Given the description of an element on the screen output the (x, y) to click on. 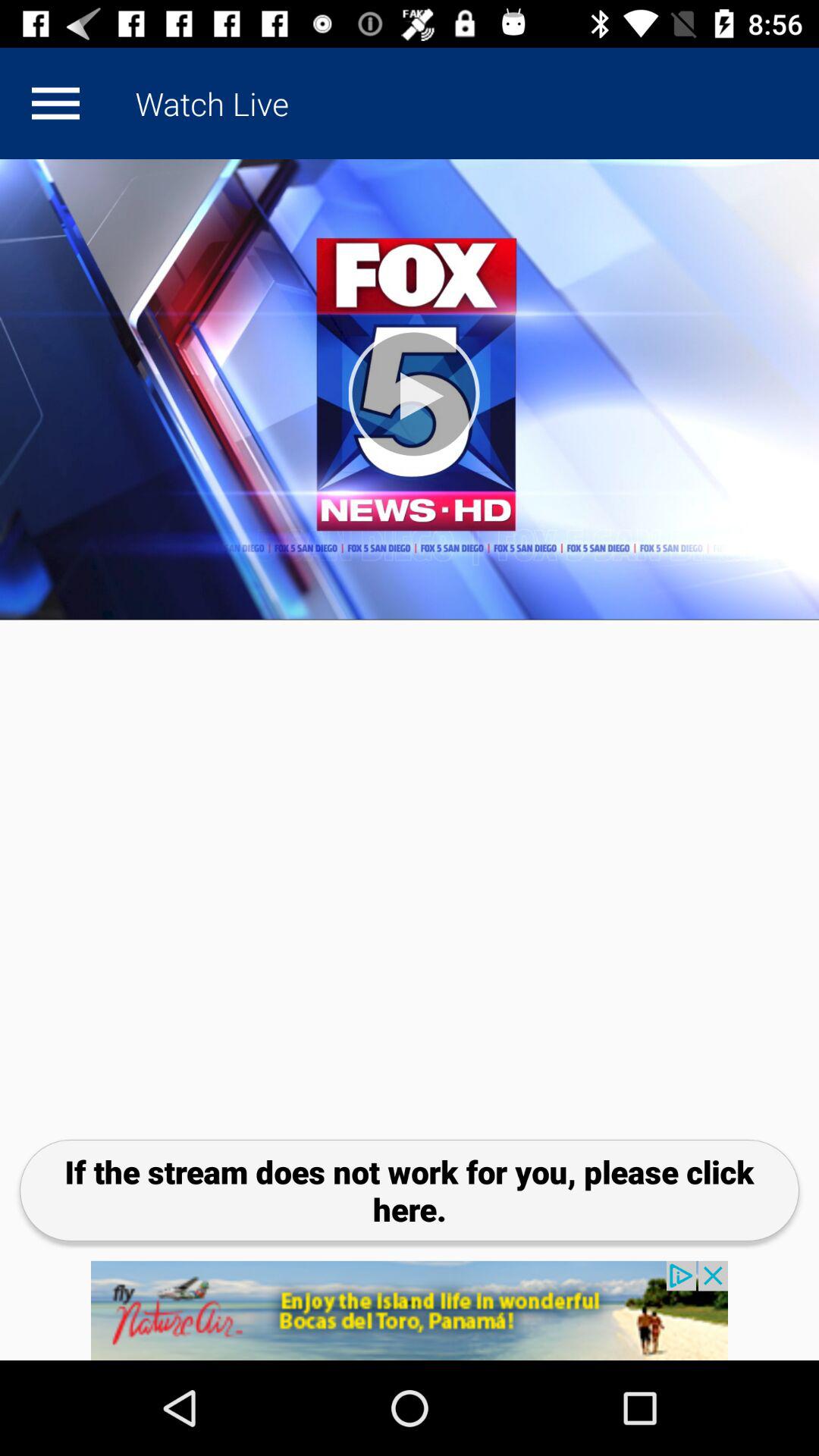
click the add (409, 1310)
